Given the description of an element on the screen output the (x, y) to click on. 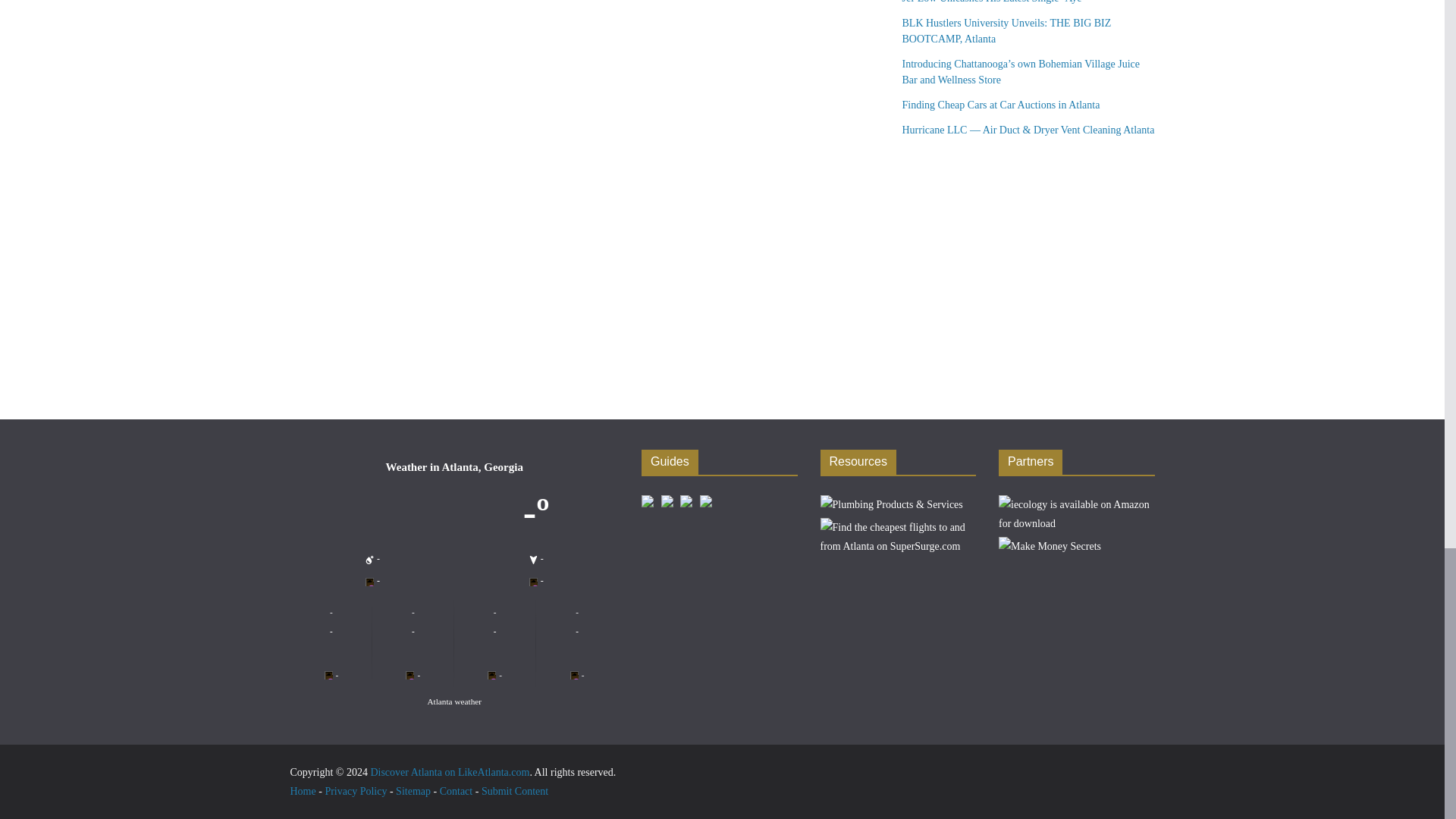
Make Money Secrets (1049, 542)
Discover Atlanta on LikeAtlanta.com (449, 772)
iecology is available on Amazon for download (1076, 500)
